Given the description of an element on the screen output the (x, y) to click on. 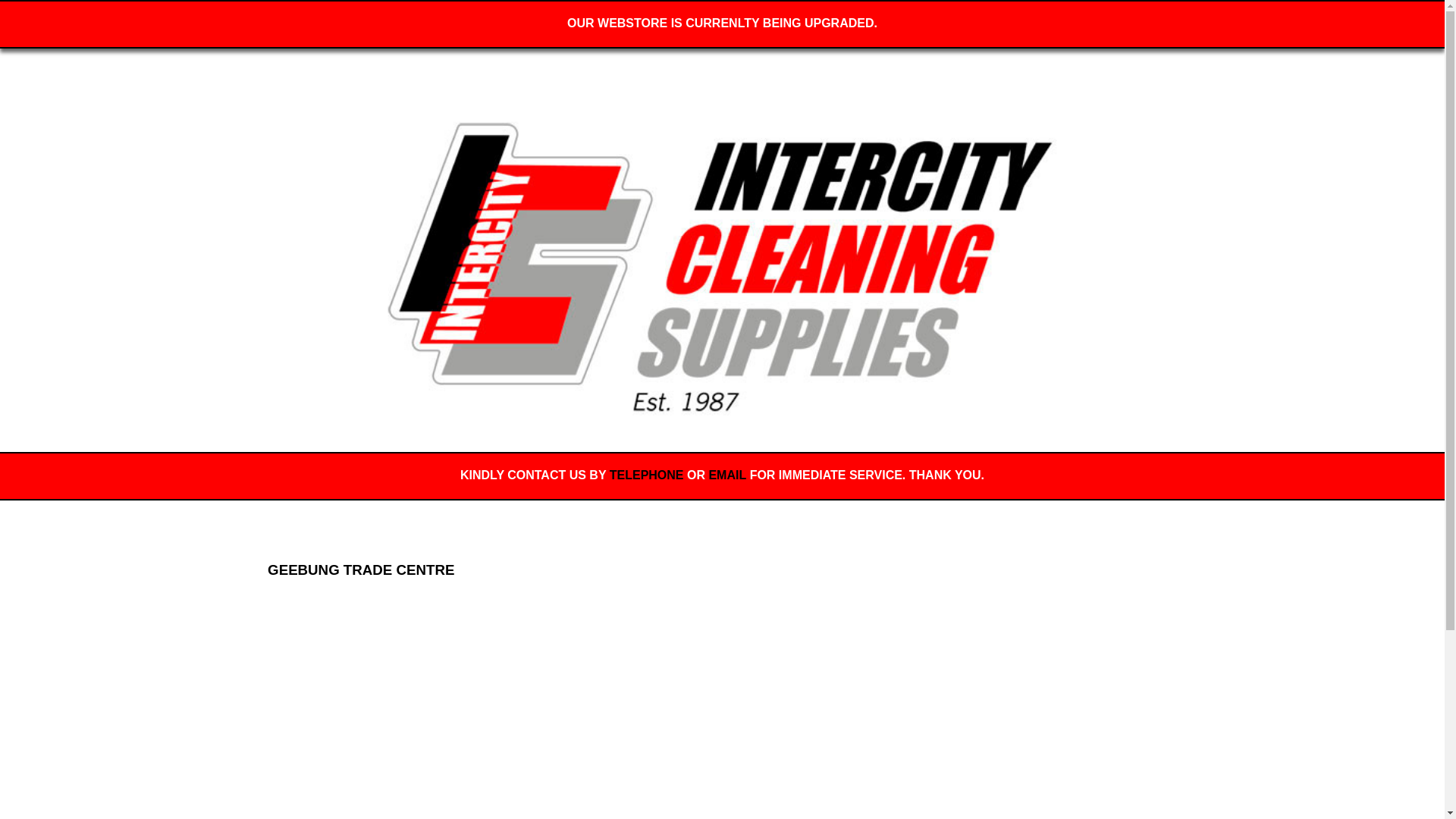
EMAIL Element type: text (727, 474)
TELEPHONE Element type: text (646, 474)
